Given the description of an element on the screen output the (x, y) to click on. 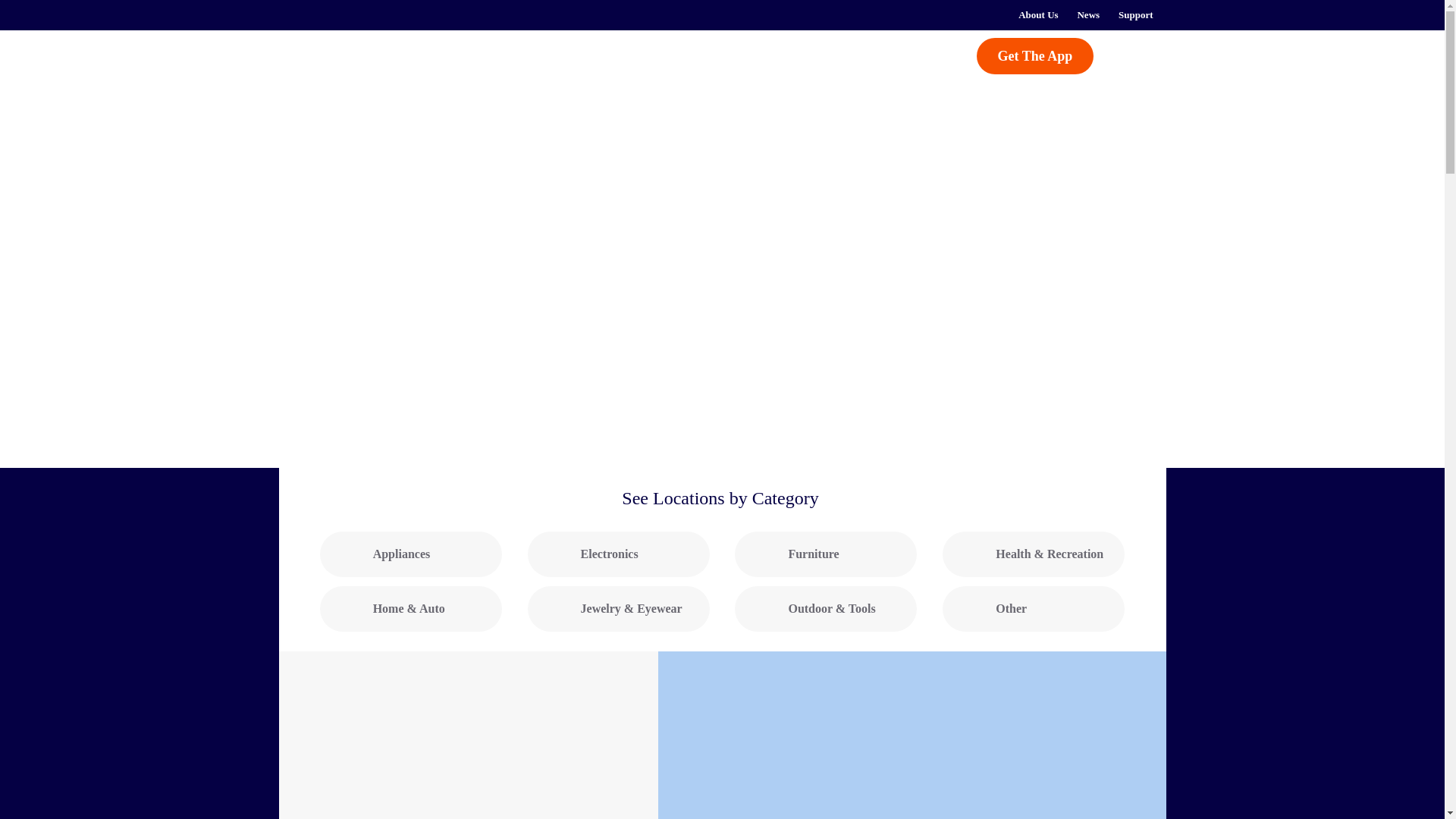
About Us (1037, 15)
Support (1136, 15)
Ways to Shop (653, 54)
Get The App (1035, 55)
Acima (358, 63)
For Partners (769, 54)
Appliances (411, 554)
Furniture (826, 554)
Electronics (618, 554)
How It Works (516, 54)
